Given the description of an element on the screen output the (x, y) to click on. 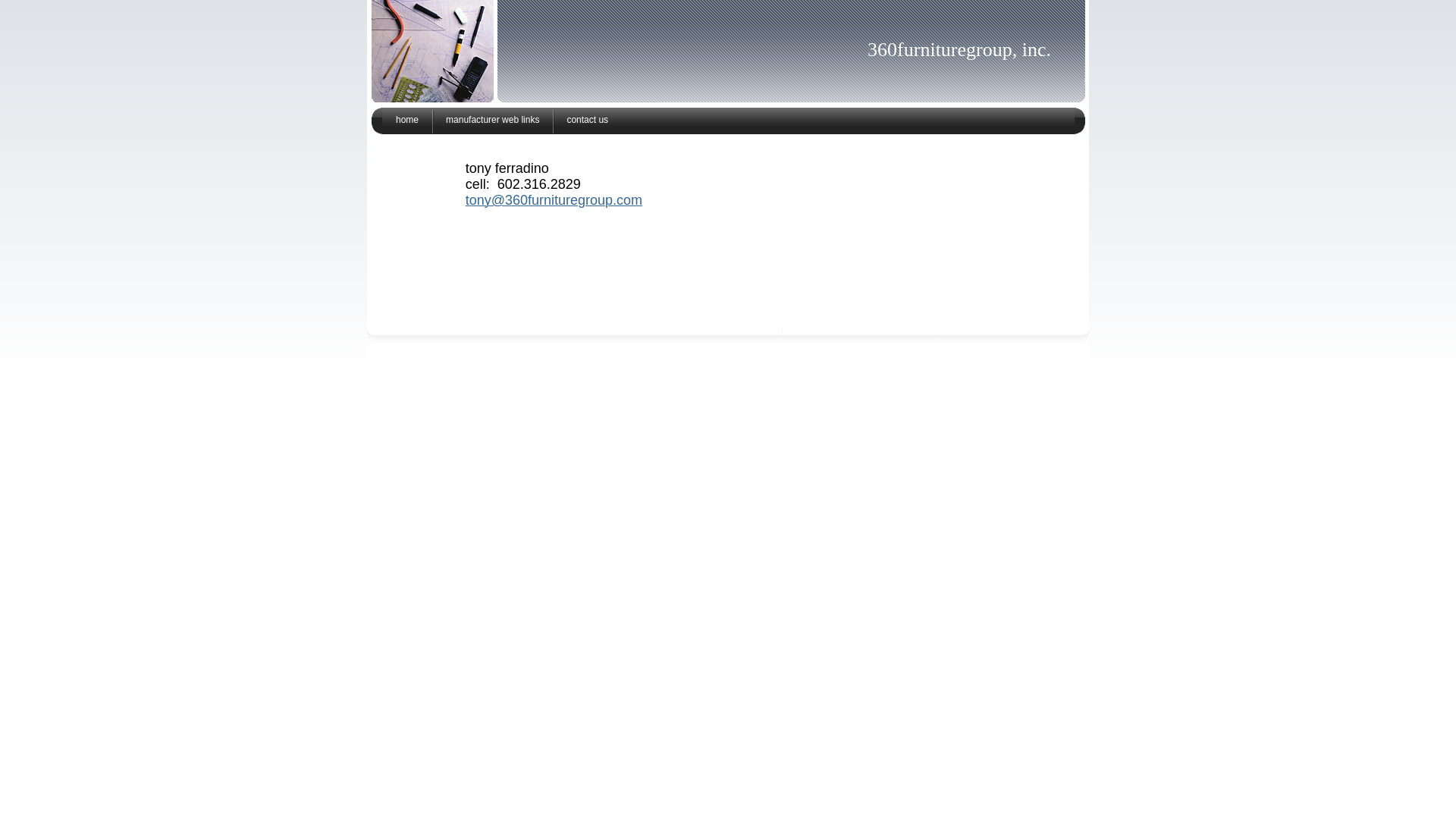
home Element type: text (407, 120)
manufacturer web links Element type: text (492, 120)
contact us Element type: text (586, 120)
tony@360furnituregroup.com Element type: text (553, 201)
